Given the description of an element on the screen output the (x, y) to click on. 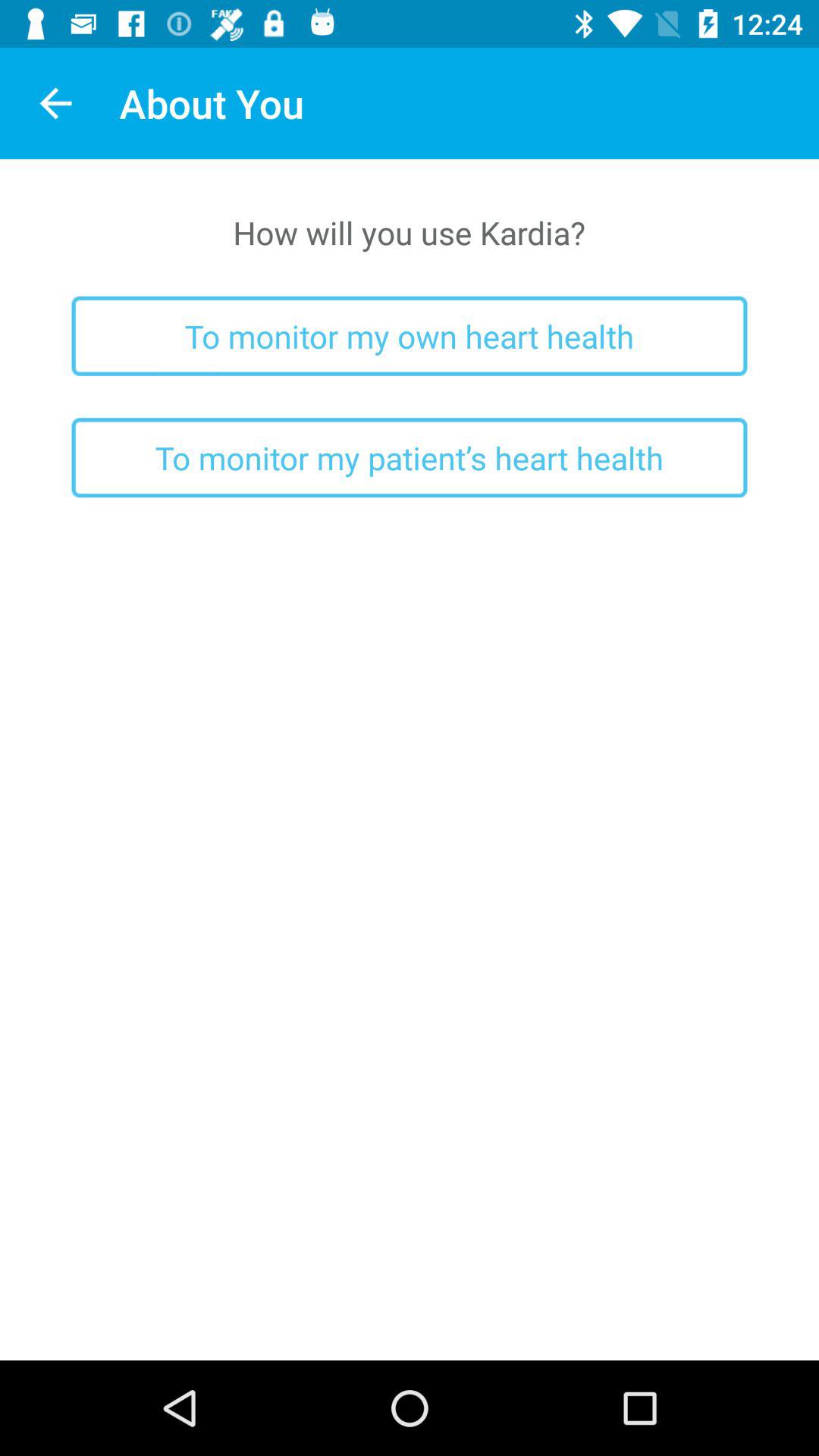
press icon to the left of the about you app (55, 103)
